Given the description of an element on the screen output the (x, y) to click on. 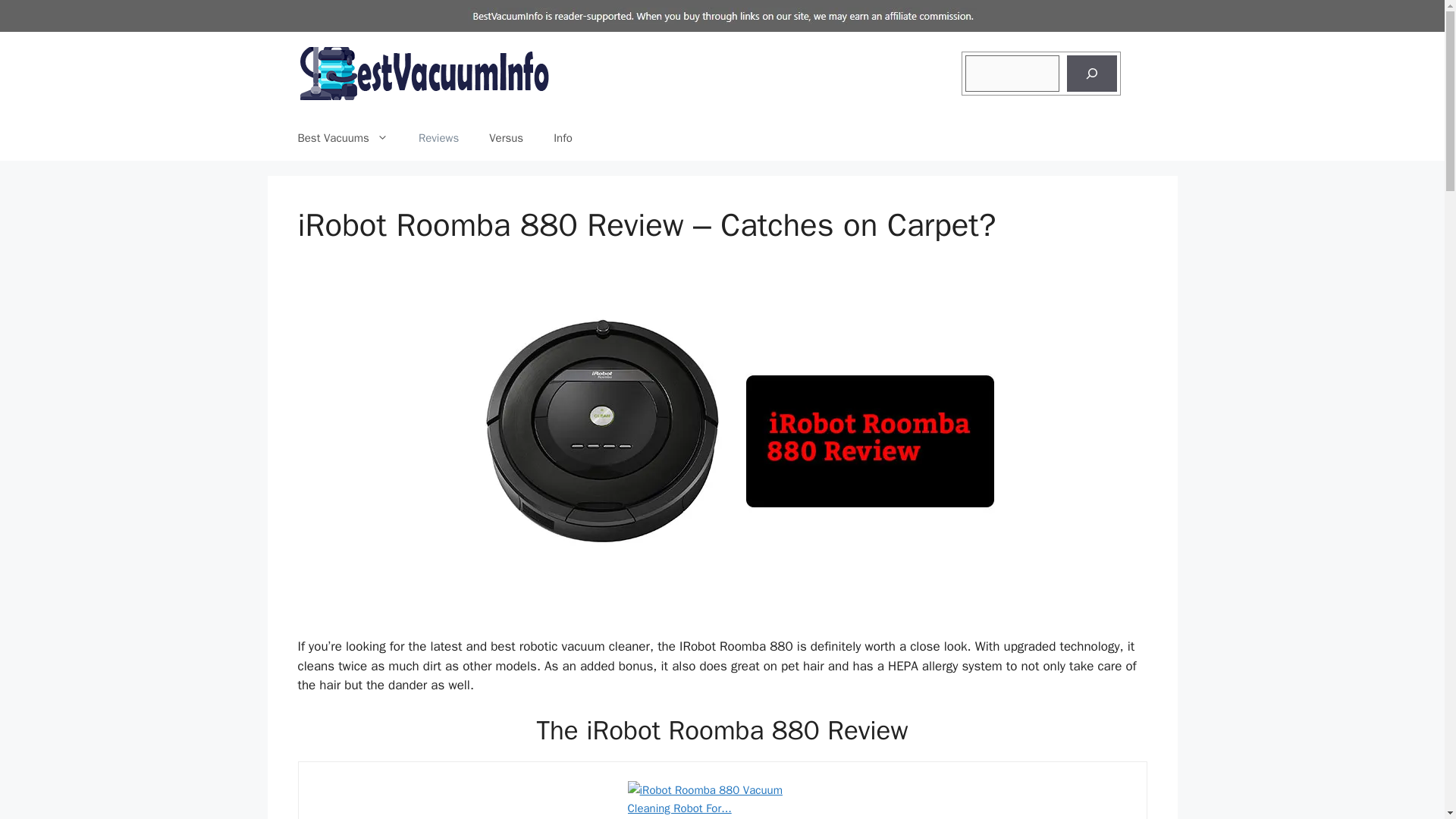
Info (563, 137)
Best Vacuums (342, 137)
iRobot Roomba 880 Vacuum Cleaning Robot For... (721, 800)
Reviews (438, 137)
Versus (506, 137)
